Given the description of an element on the screen output the (x, y) to click on. 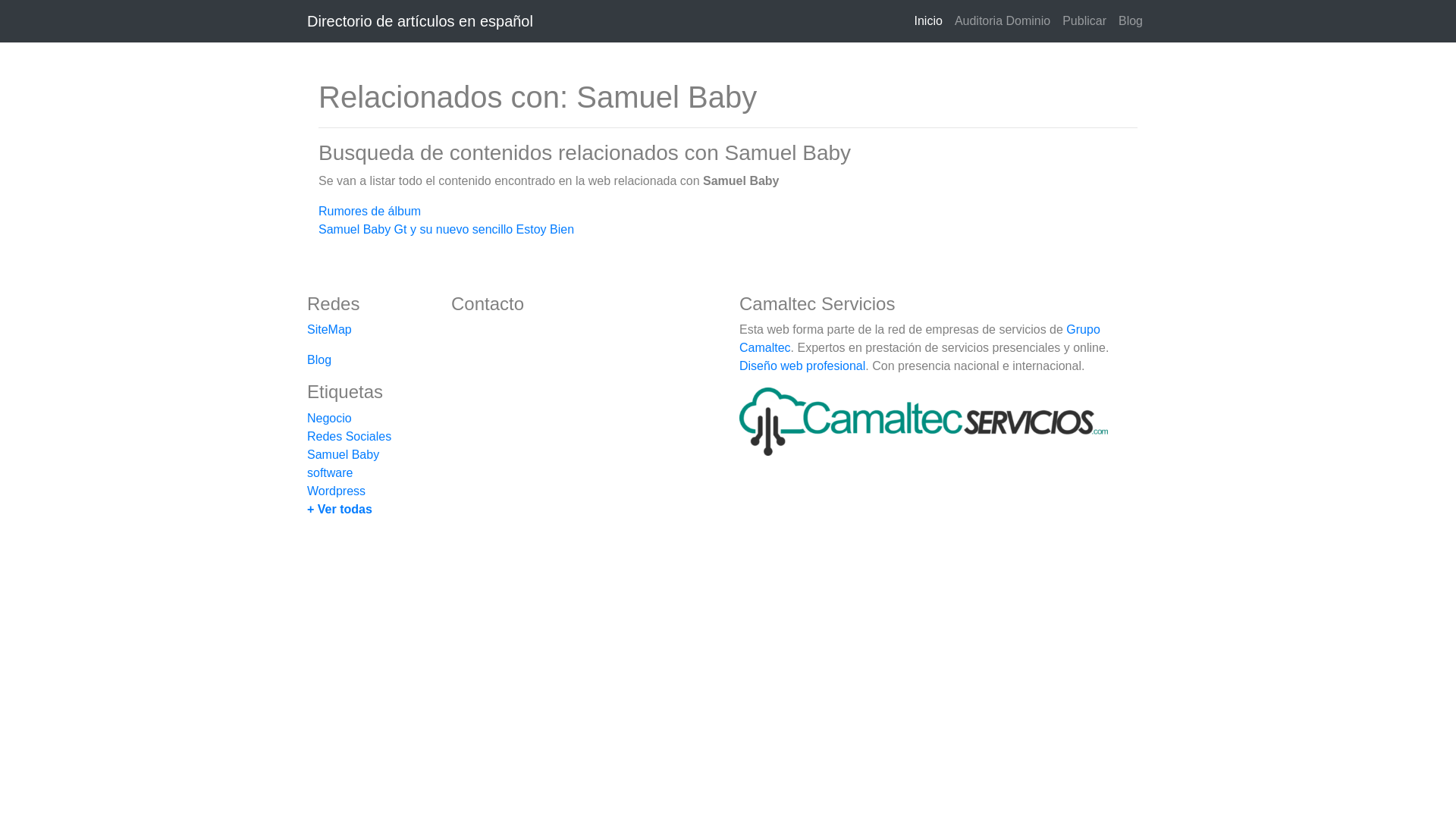
Blog Element type: text (319, 359)
Negocio Element type: text (329, 417)
Publicar Element type: text (1084, 21)
Inicio
(current) Element type: text (928, 21)
Wordpress Element type: text (336, 490)
Blog Element type: text (1130, 21)
SiteMap Element type: text (329, 329)
Samuel Baby Element type: text (343, 454)
Samuel Baby Gt y su nuevo sencillo Estoy Bien Element type: text (446, 228)
chat-iframe Element type: hover (1417, 778)
Auditoria Dominio Element type: text (1002, 21)
software Element type: text (329, 472)
Grupo Camaltec Element type: text (919, 338)
+ Ver todas Element type: text (339, 508)
Redes Sociales Element type: text (349, 435)
